Given the description of an element on the screen output the (x, y) to click on. 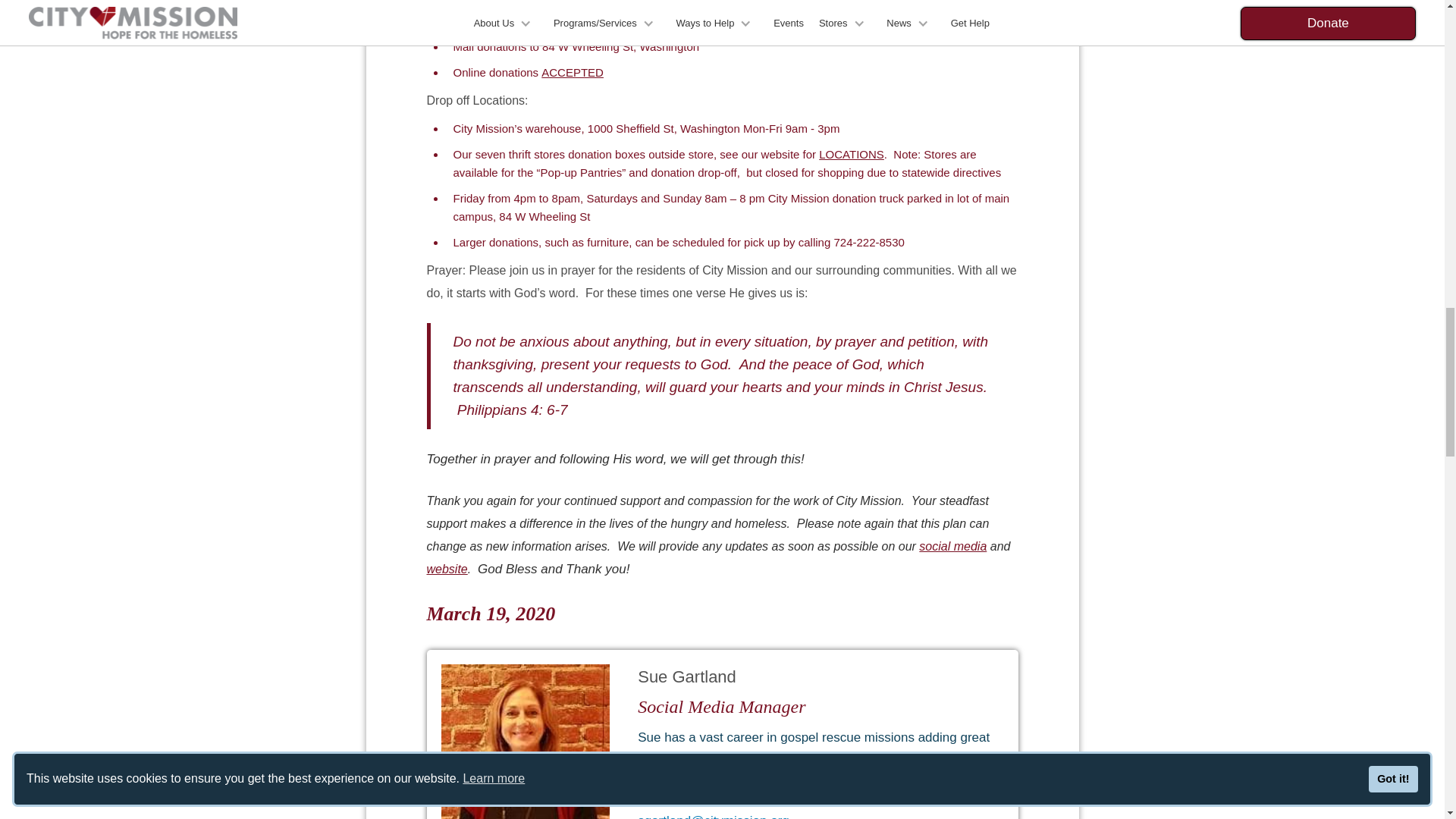
LOCATIONS (850, 154)
social media (952, 545)
ACCEPTED (572, 72)
website (446, 568)
